Given the description of an element on the screen output the (x, y) to click on. 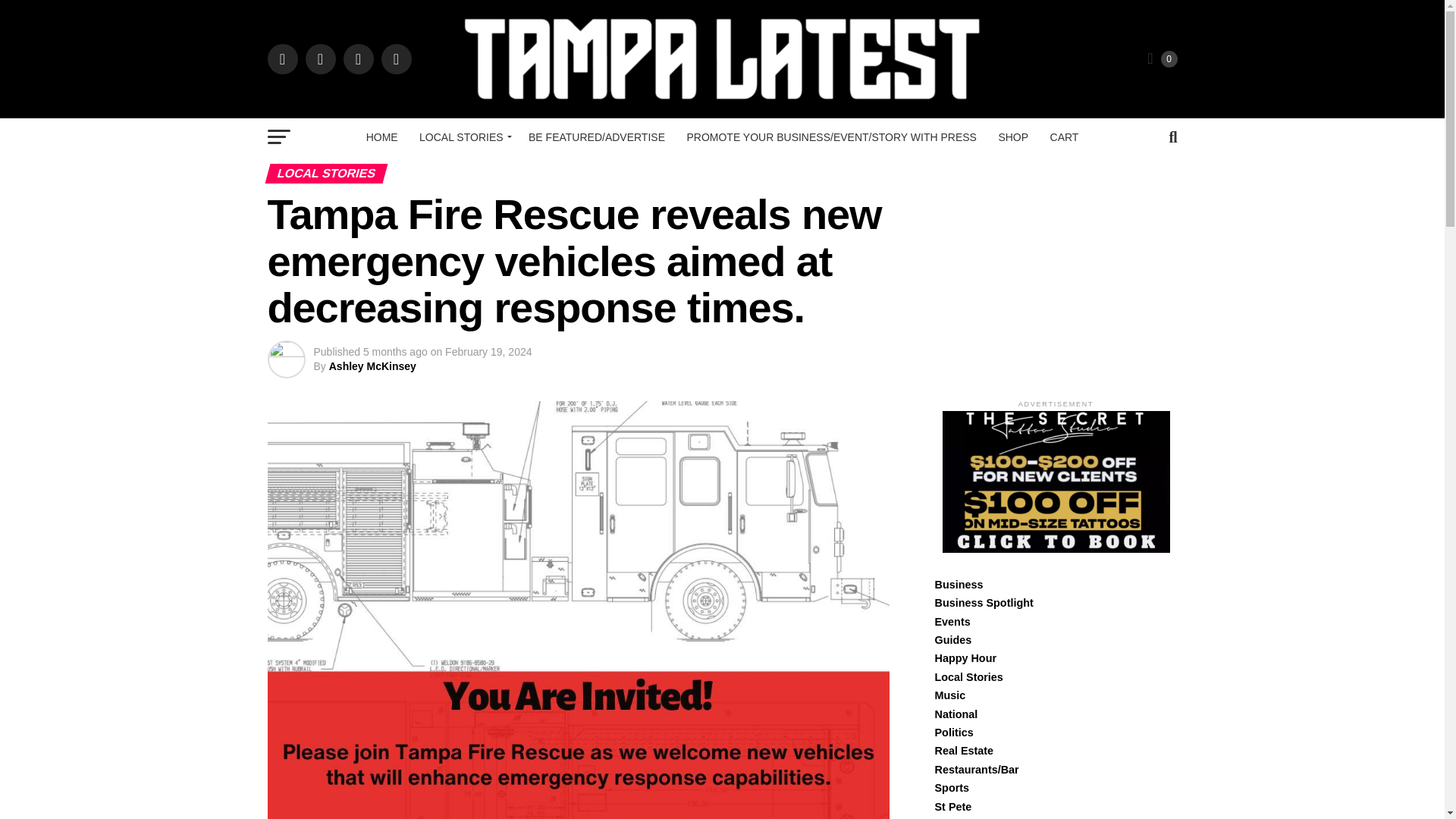
HOME (381, 136)
Posts by Ashley McKinsey (372, 366)
LOCAL STORIES (462, 136)
